Given the description of an element on the screen output the (x, y) to click on. 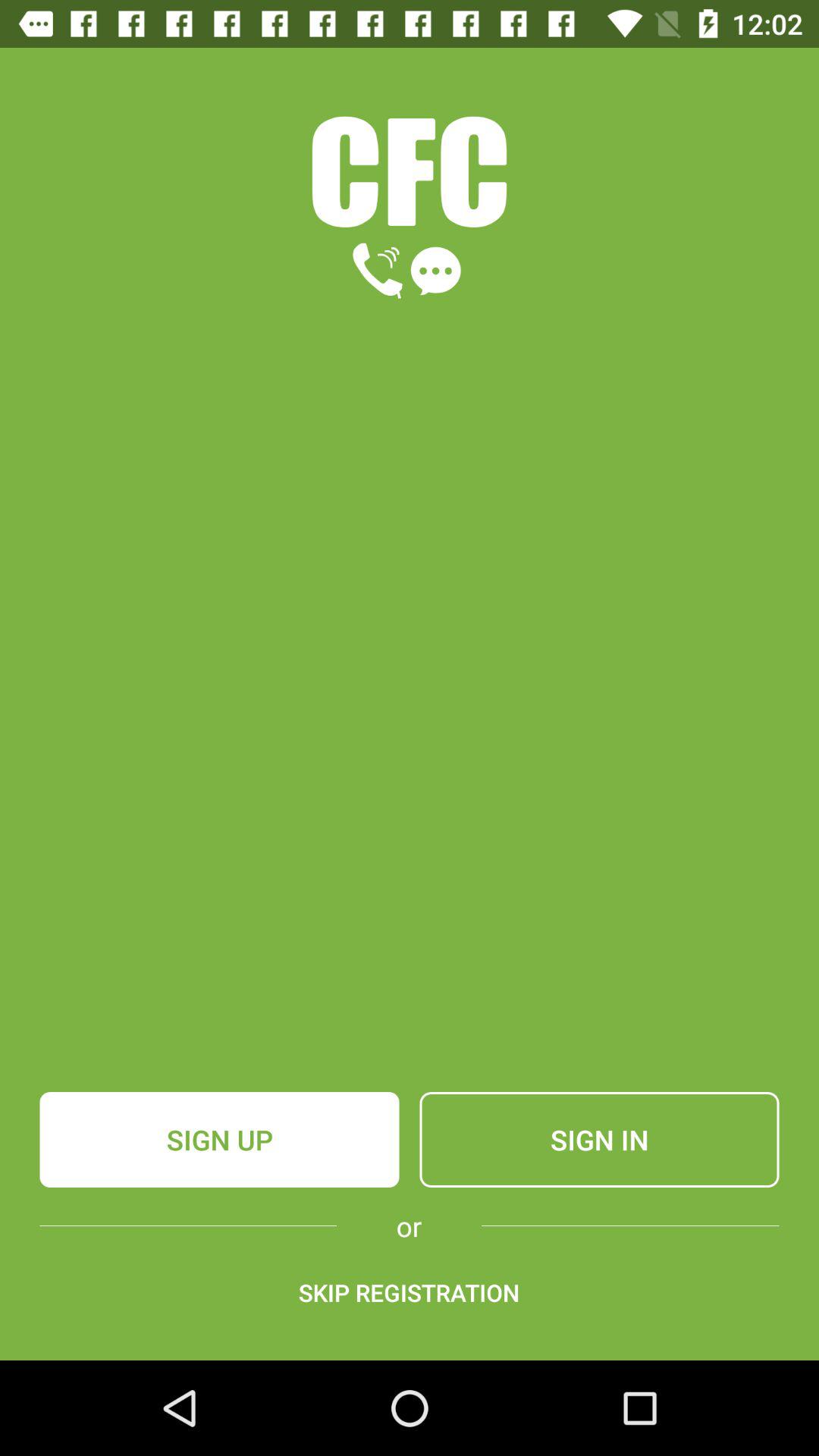
click sign up item (219, 1139)
